Given the description of an element on the screen output the (x, y) to click on. 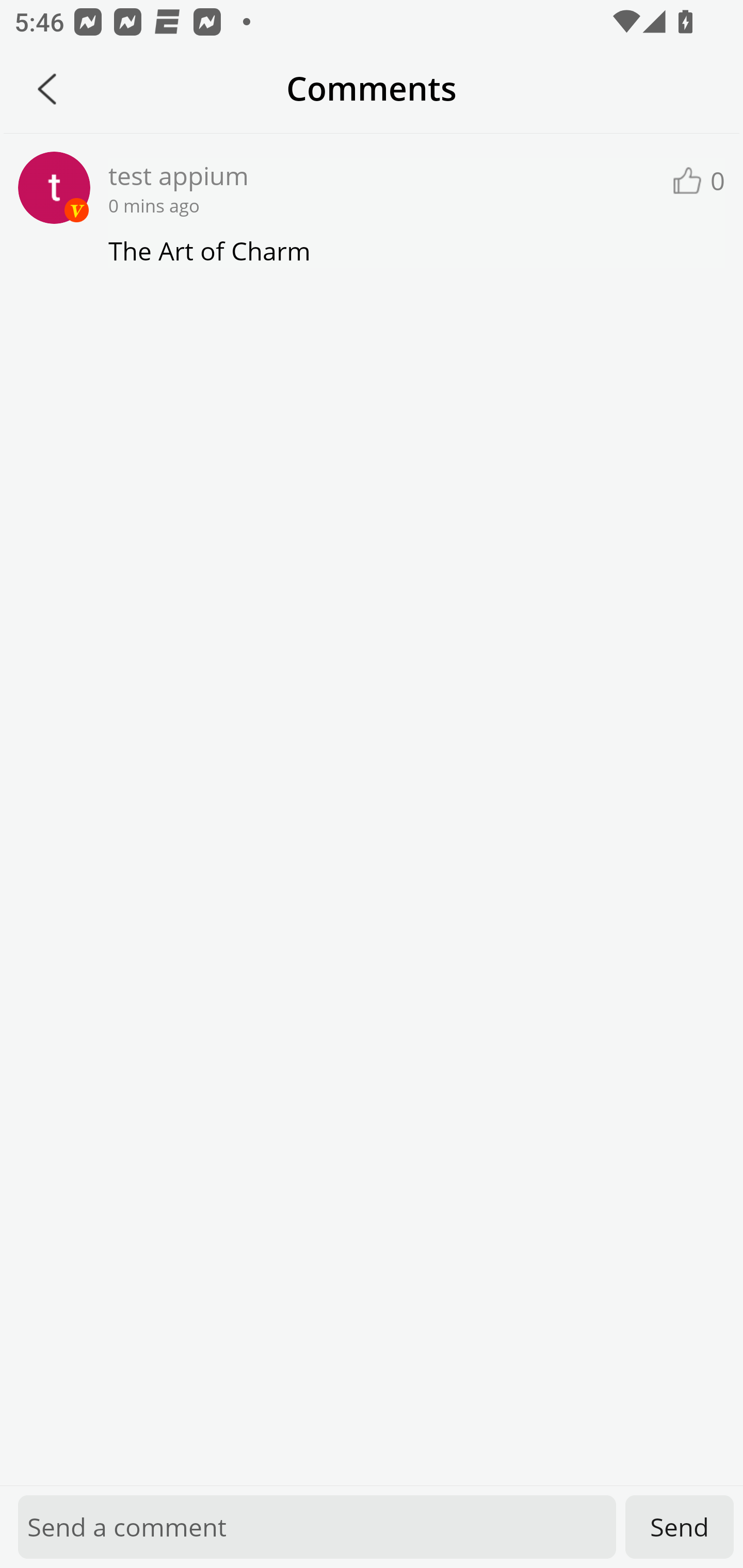
Back (46, 88)
Send a comment (316, 1526)
Send (679, 1526)
